Given the description of an element on the screen output the (x, y) to click on. 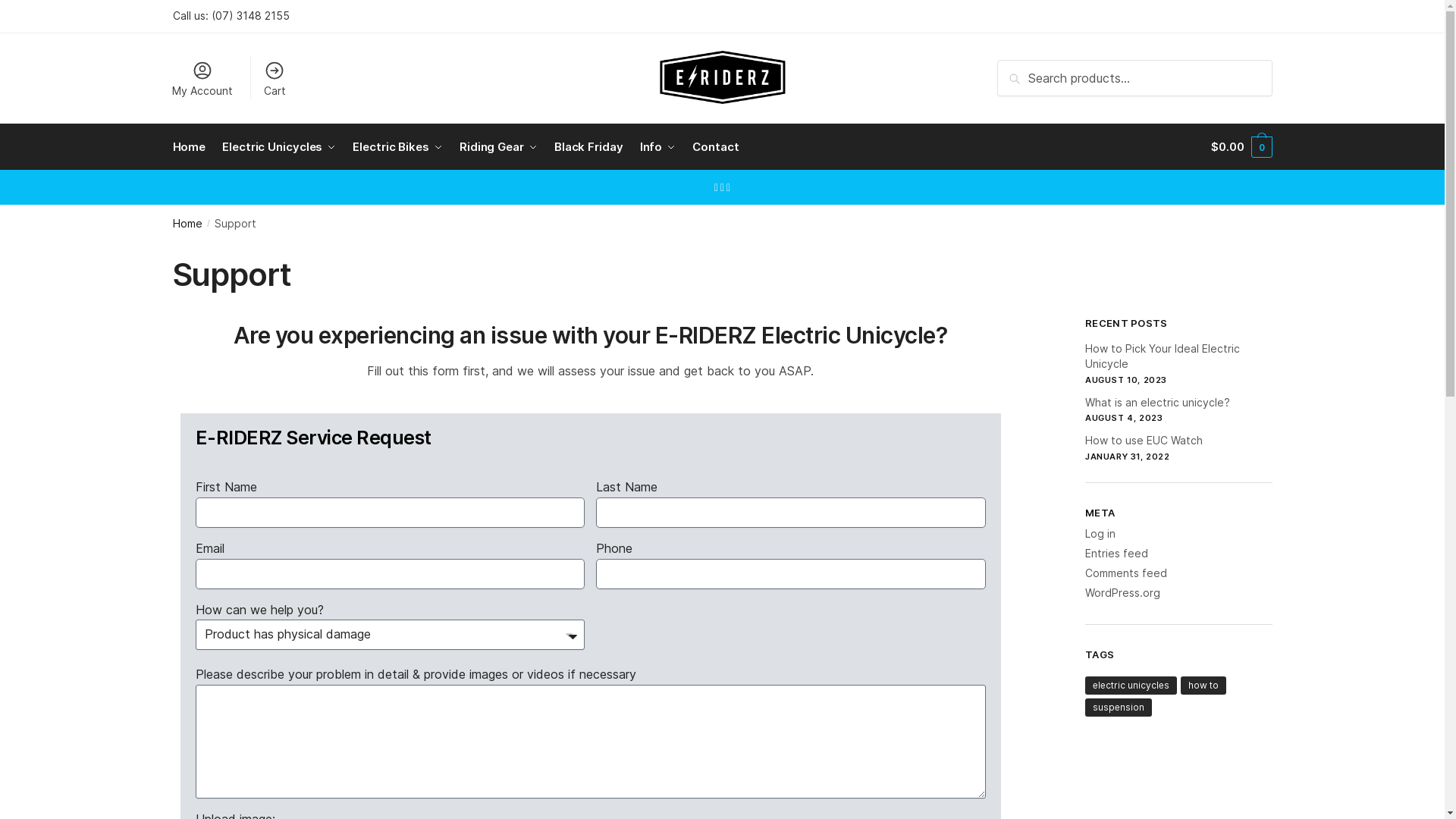
Home Element type: text (187, 222)
Comments feed Element type: text (1126, 572)
Contact Element type: text (715, 146)
How to Pick Your Ideal Electric Unicycle Element type: text (1162, 356)
Search Element type: text (1020, 70)
$0.00 0 Element type: text (1241, 146)
What is an electric unicycle? Element type: text (1157, 401)
WordPress.org Element type: text (1122, 592)
Entries feed Element type: text (1116, 552)
Electric Unicycles Element type: text (279, 146)
How to use EUC Watch Element type: text (1143, 439)
My Account Element type: text (201, 78)
Log in Element type: text (1100, 533)
Riding Gear Element type: text (498, 146)
Black Friday Element type: text (588, 146)
Cart Element type: text (274, 78)
how to Element type: text (1203, 685)
electric unicycles Element type: text (1130, 685)
Home Element type: text (192, 146)
Info Element type: text (657, 146)
Electric Bikes Element type: text (397, 146)
suspension Element type: text (1118, 707)
